Given the description of an element on the screen output the (x, y) to click on. 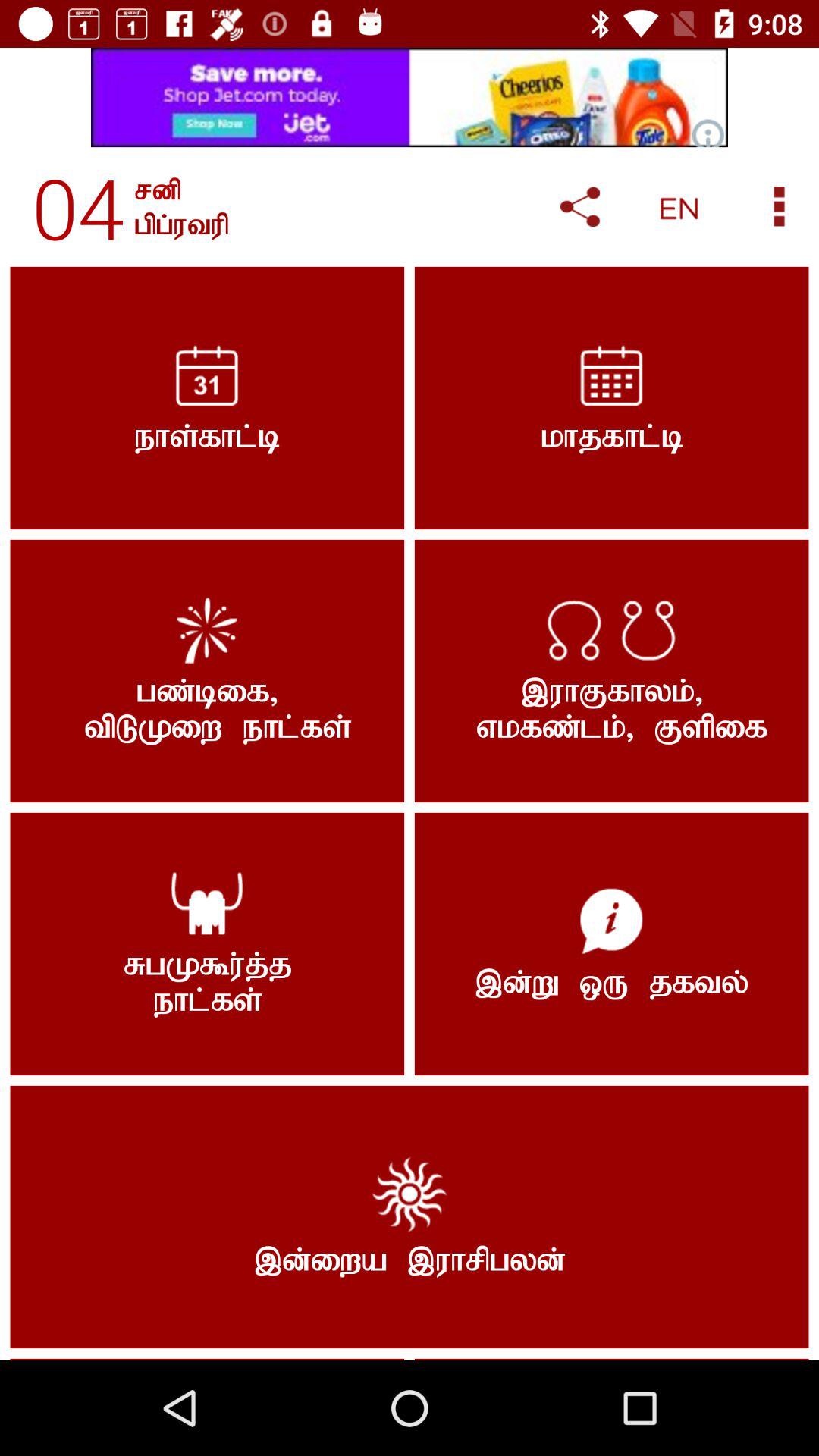
share (579, 206)
